Given the description of an element on the screen output the (x, y) to click on. 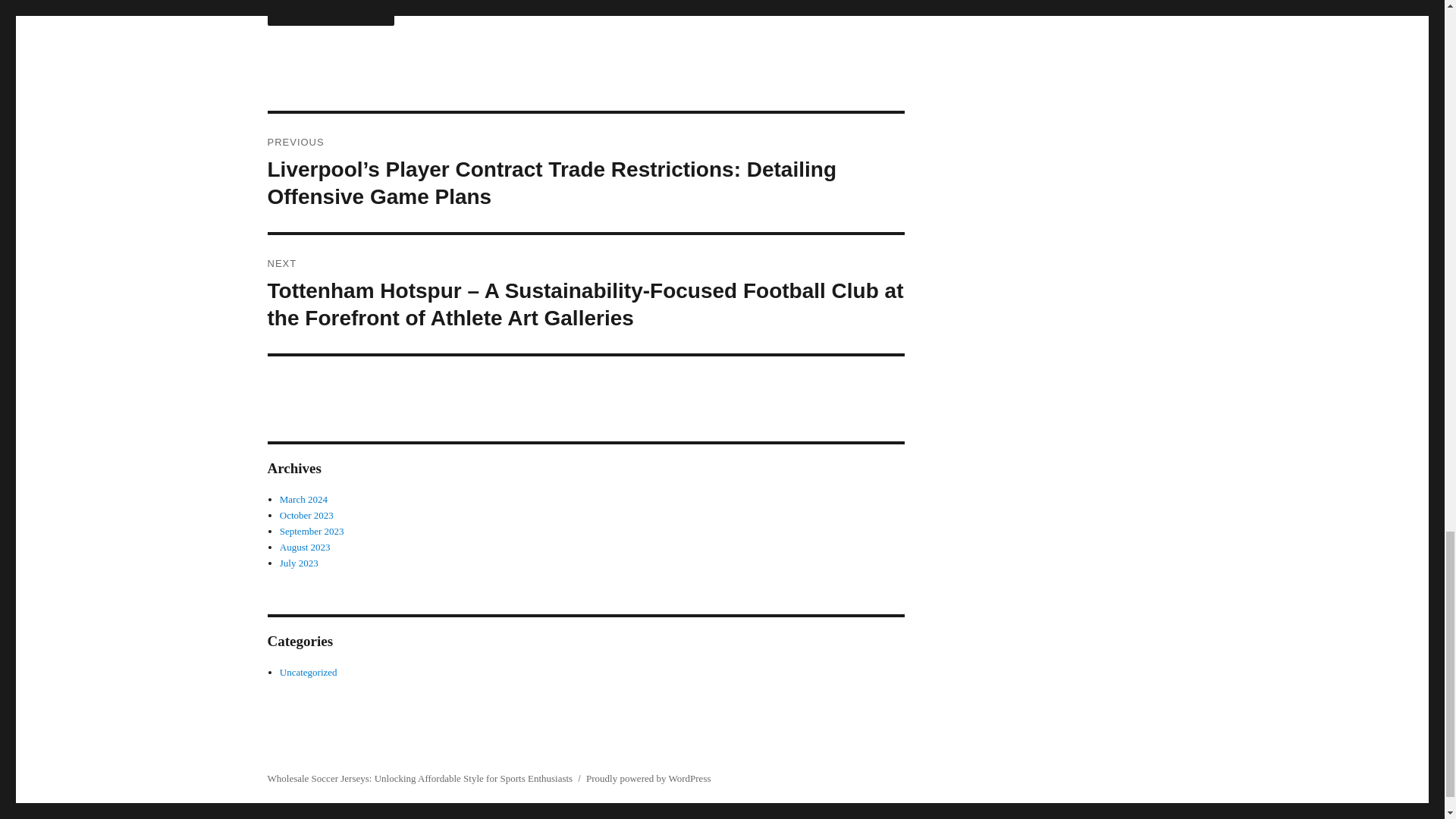
October 2023 (306, 514)
March 2024 (303, 499)
Post Comment (330, 12)
July 2023 (298, 562)
August 2023 (304, 546)
Uncategorized (308, 672)
Post Comment (330, 12)
Proudly powered by WordPress (648, 778)
September 2023 (311, 531)
